Given the description of an element on the screen output the (x, y) to click on. 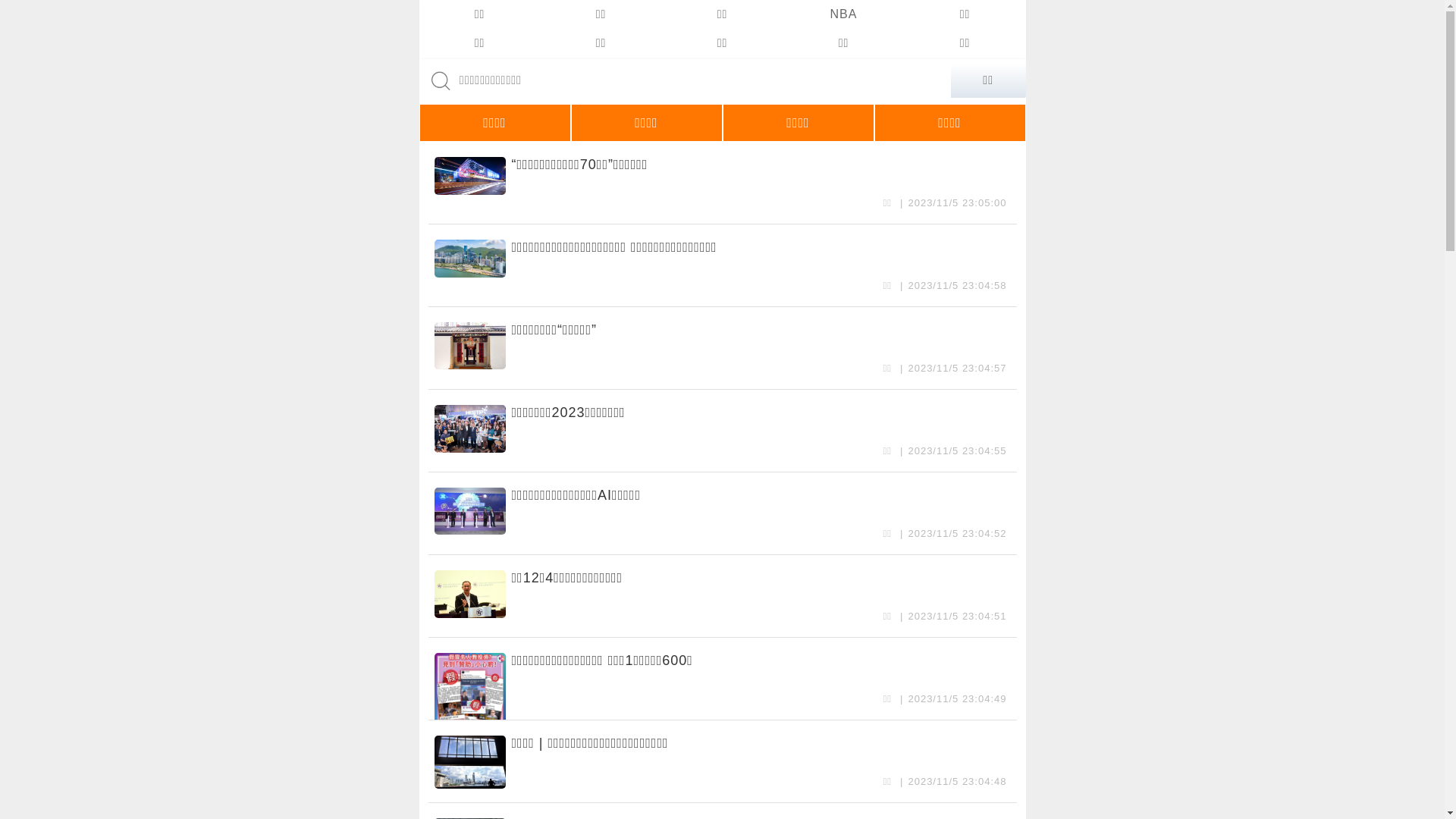
NBA Element type: text (842, 14)
